Given the description of an element on the screen output the (x, y) to click on. 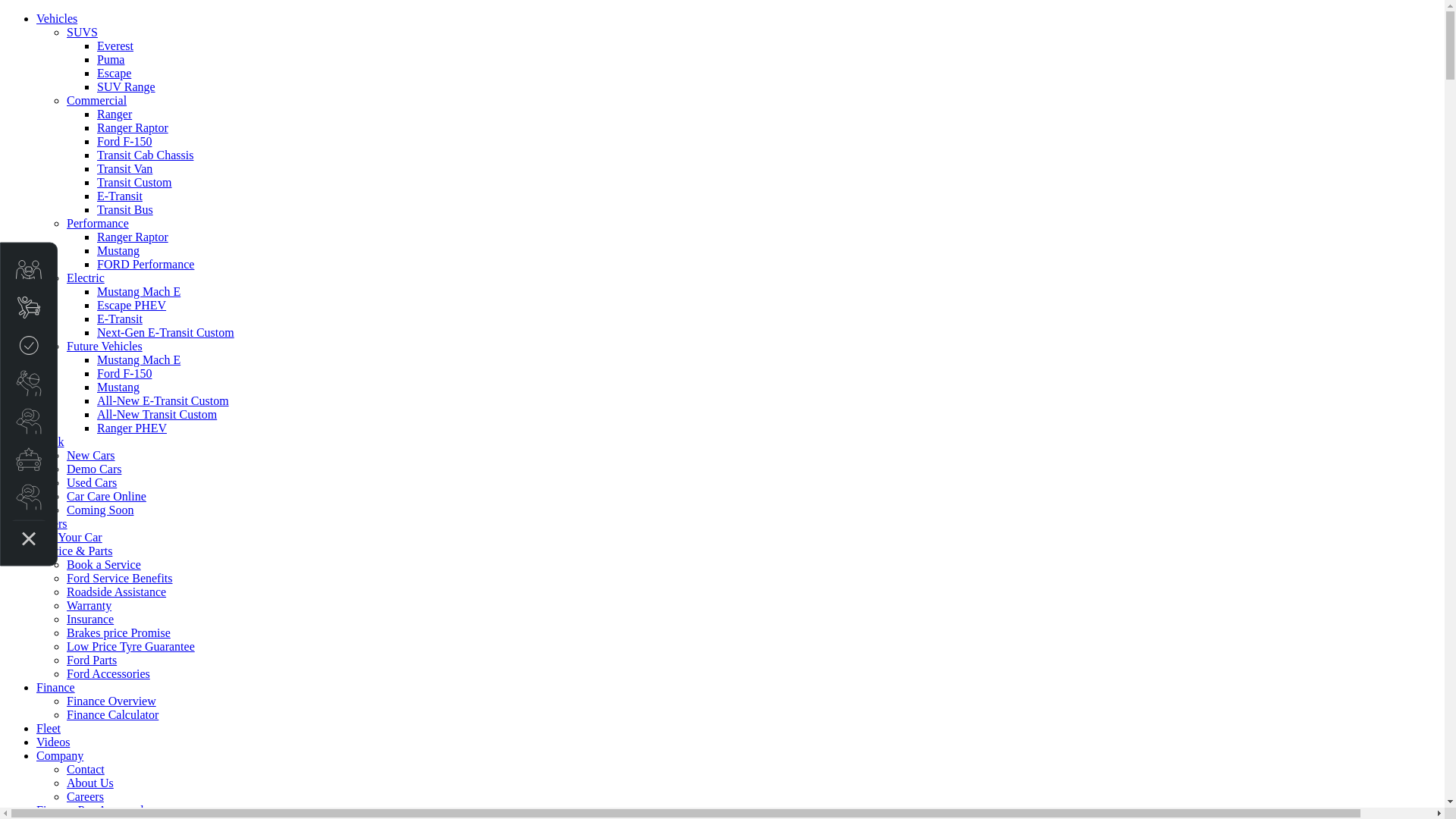
Coming Soon Element type: text (99, 509)
Transit Bus Element type: text (125, 209)
Ford F-150 Element type: text (124, 140)
Finance Overview Element type: text (111, 700)
Finance Pre-Approval Element type: text (90, 809)
Used Cars Element type: text (91, 482)
Mustang Mach E Element type: text (138, 291)
Performance Element type: text (97, 222)
Ranger Raptor Element type: text (132, 236)
SUV Range Element type: text (126, 86)
Service & Parts Element type: text (74, 550)
Stock Element type: text (49, 441)
Puma Element type: text (110, 59)
Transit Custom Element type: text (134, 181)
Ranger PHEV Element type: text (131, 427)
New Cars Element type: text (90, 454)
Mustang Element type: text (118, 386)
Offers Element type: text (51, 523)
Escape Element type: text (114, 72)
Commercial Element type: text (96, 100)
About Us Element type: text (89, 782)
Book a Service Element type: text (103, 564)
Company Element type: text (59, 755)
Vehicles Element type: text (56, 18)
Brakes price Promise Element type: text (118, 632)
Contact Element type: text (85, 768)
Ranger Raptor Element type: text (132, 127)
Demo Cars Element type: text (93, 468)
Finance Calculator Element type: text (112, 714)
Roadside Assistance Element type: text (116, 591)
Car Care Online Element type: text (106, 495)
Future Vehicles Element type: text (104, 345)
Careers Element type: text (84, 796)
Everest Element type: text (115, 45)
Fleet Element type: text (48, 727)
Ford Accessories Element type: text (108, 673)
Ranger Element type: text (114, 113)
Next-Gen E-Transit Custom Element type: text (165, 332)
Ford Parts Element type: text (91, 659)
SUVS Element type: text (81, 31)
Transit Cab Chassis Element type: text (145, 154)
Ford F-150 Element type: text (124, 373)
Escape PHEV Element type: text (131, 304)
Ford Service Benefits Element type: text (119, 577)
Electric Element type: text (85, 277)
Mustang Element type: text (118, 250)
Warranty Element type: text (88, 605)
Videos Element type: text (52, 741)
E-Transit Element type: text (119, 318)
Low Price Tyre Guarantee Element type: text (130, 646)
E-Transit Element type: text (119, 195)
All-New E-Transit Custom Element type: text (163, 400)
FORD Performance Element type: text (145, 263)
Mustang Mach E Element type: text (138, 359)
Transit Van Element type: text (124, 168)
Finance Element type: text (55, 686)
Insurance Element type: text (89, 618)
Sell Your Car Element type: text (69, 536)
All-New Transit Custom Element type: text (156, 413)
